Given the description of an element on the screen output the (x, y) to click on. 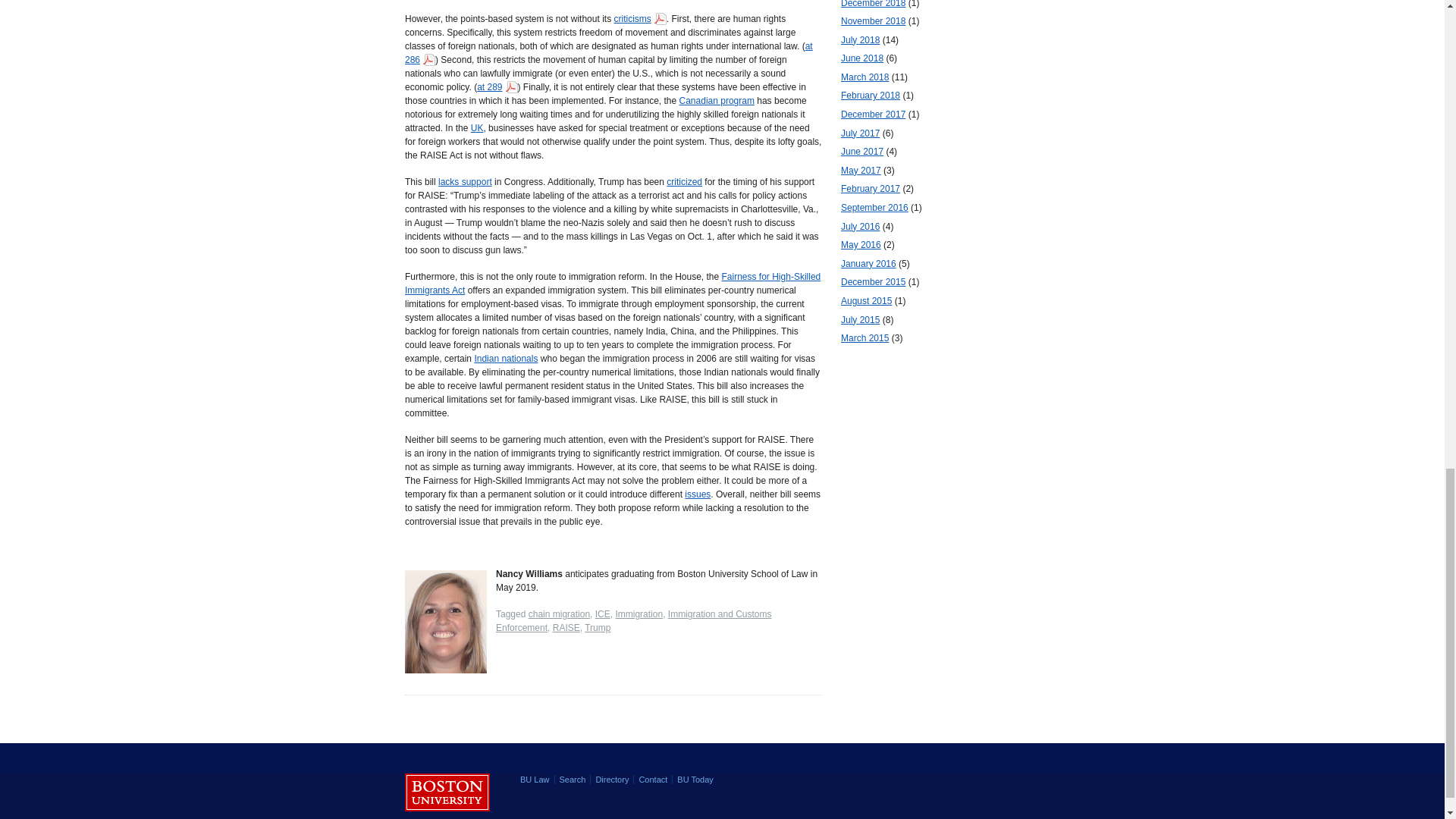
at 286 (608, 52)
criticisms (638, 18)
